Given the description of an element on the screen output the (x, y) to click on. 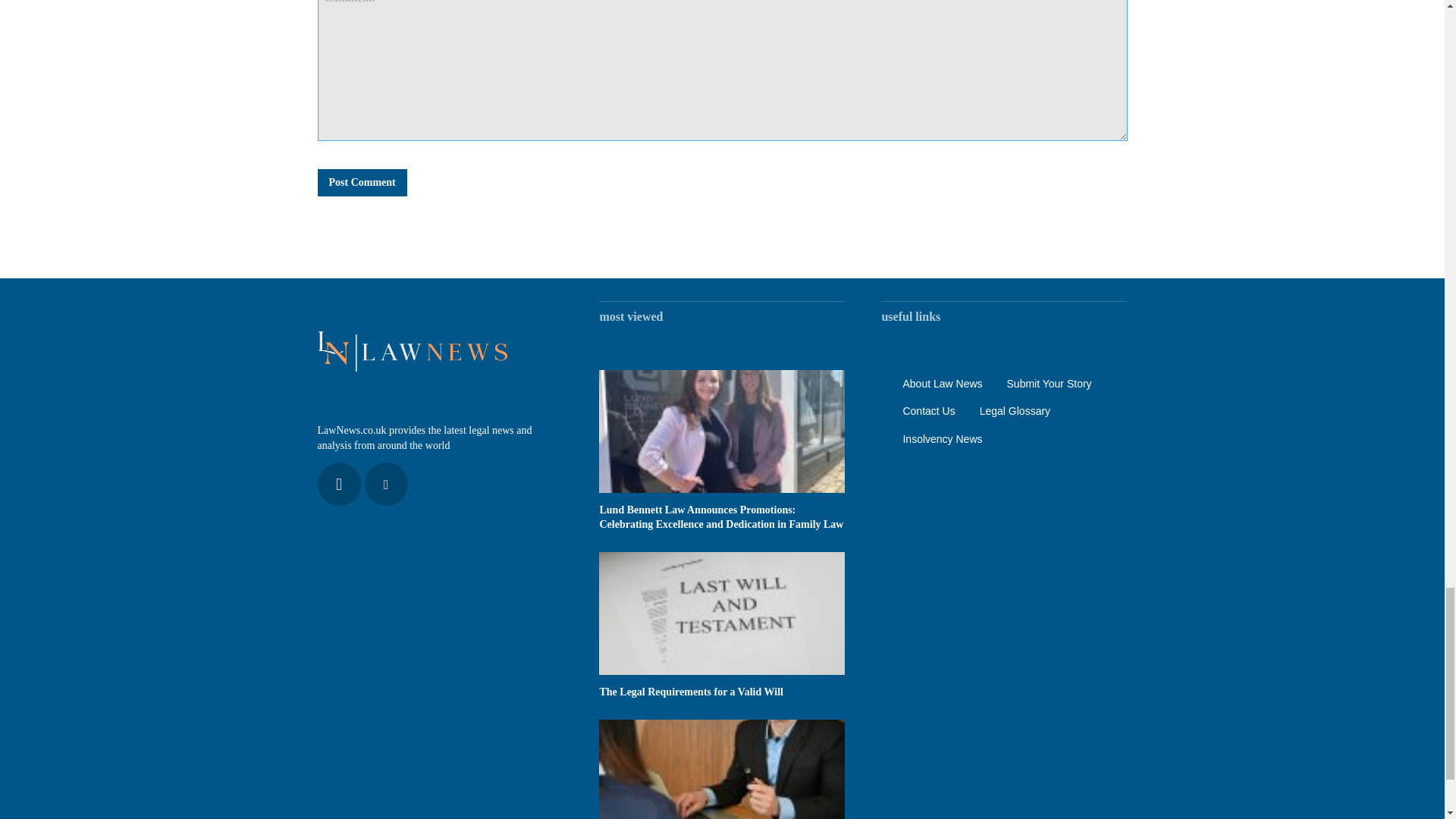
Post Comment (361, 182)
